Given the description of an element on the screen output the (x, y) to click on. 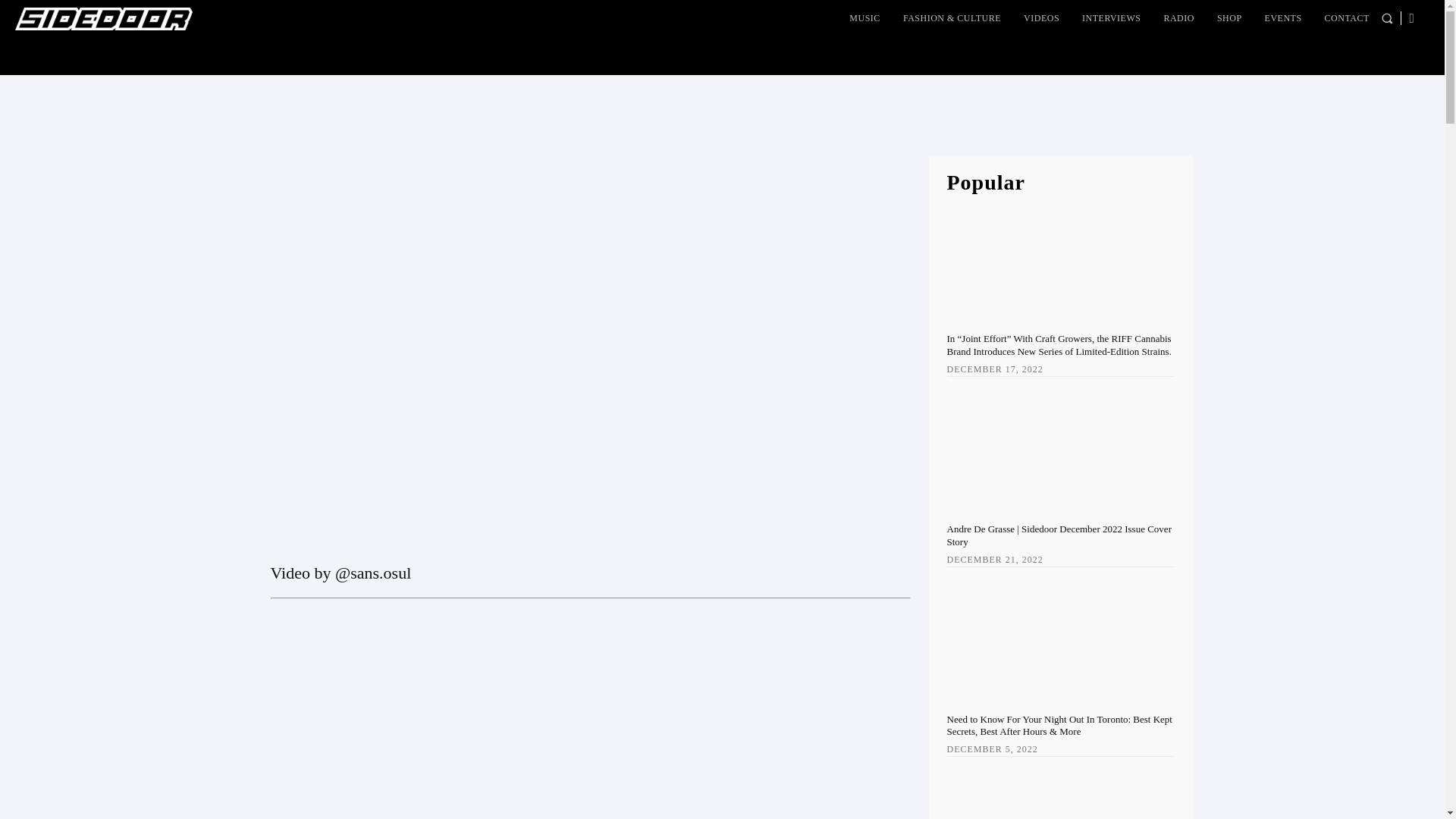
CONTACT (1347, 18)
RADIO (1179, 18)
EVENTS (1282, 18)
SHOP (1229, 18)
VIDEOS (1041, 18)
INTERVIEWS (1111, 18)
MUSIC (864, 18)
